Given the description of an element on the screen output the (x, y) to click on. 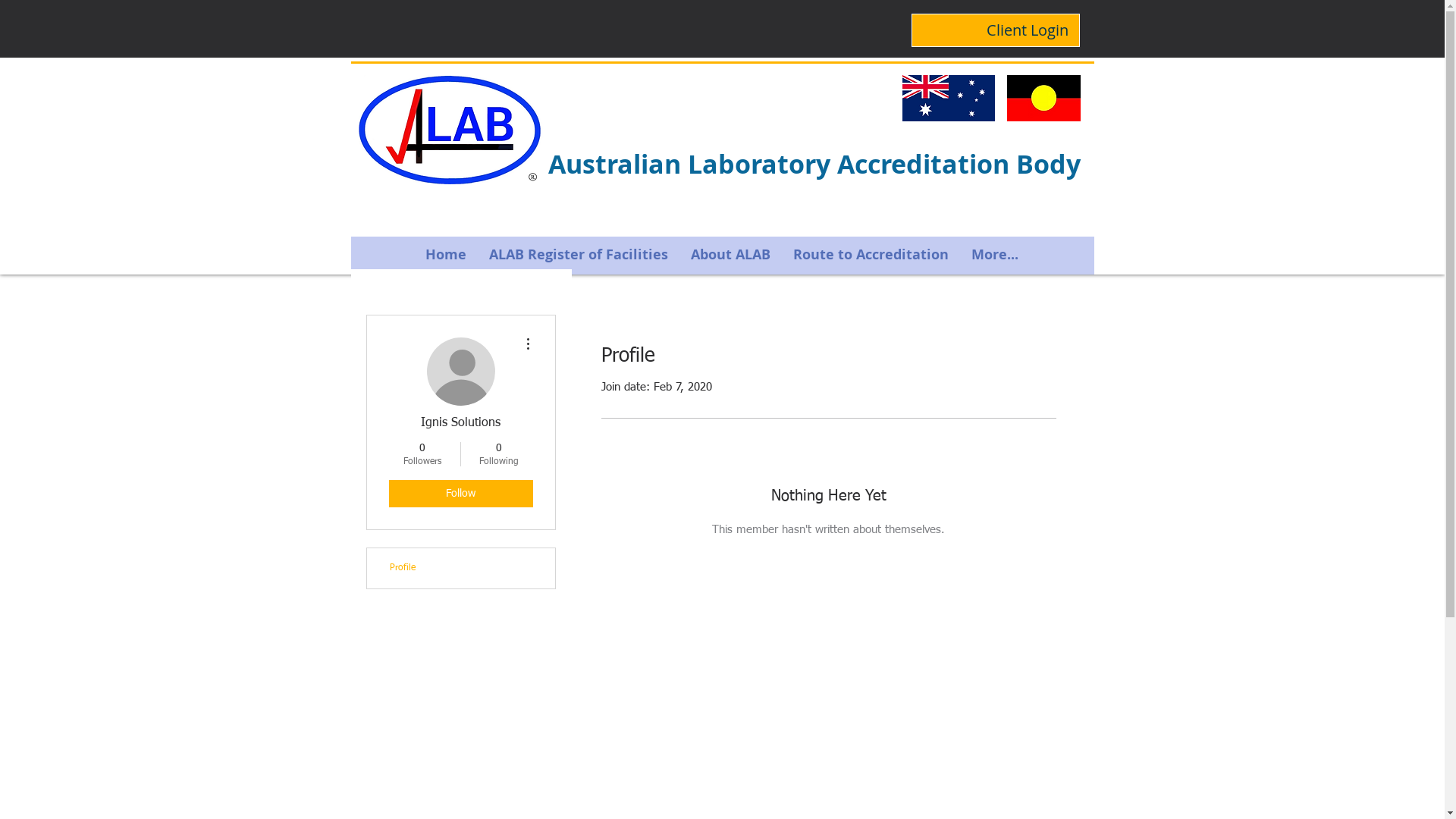
Profile Element type: text (461, 568)
Home Element type: text (445, 254)
0
Followers Element type: text (421, 453)
About ALAB Element type: text (730, 254)
ALAB Register of Facilities Element type: text (578, 254)
Follow Element type: text (460, 493)
0
Following Element type: text (499, 453)
Client Login Element type: text (1026, 30)
Route to Accreditation Element type: text (870, 254)
